Given the description of an element on the screen output the (x, y) to click on. 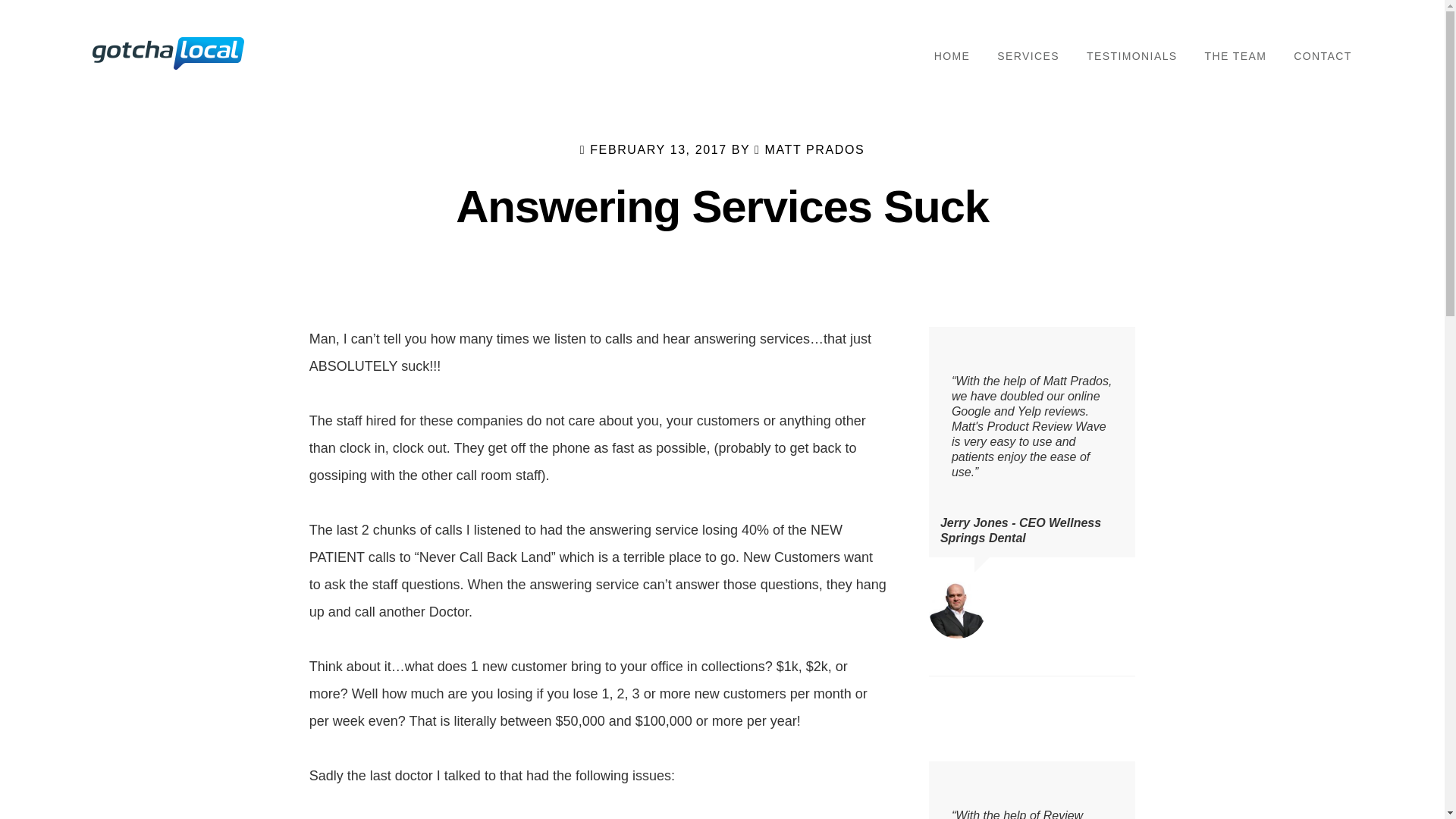
CONTACT (1322, 56)
THE TEAM (1235, 56)
SERVICES (1028, 56)
HOME (952, 56)
Gotcha Local (168, 53)
TESTIMONIALS (1131, 56)
